Given the description of an element on the screen output the (x, y) to click on. 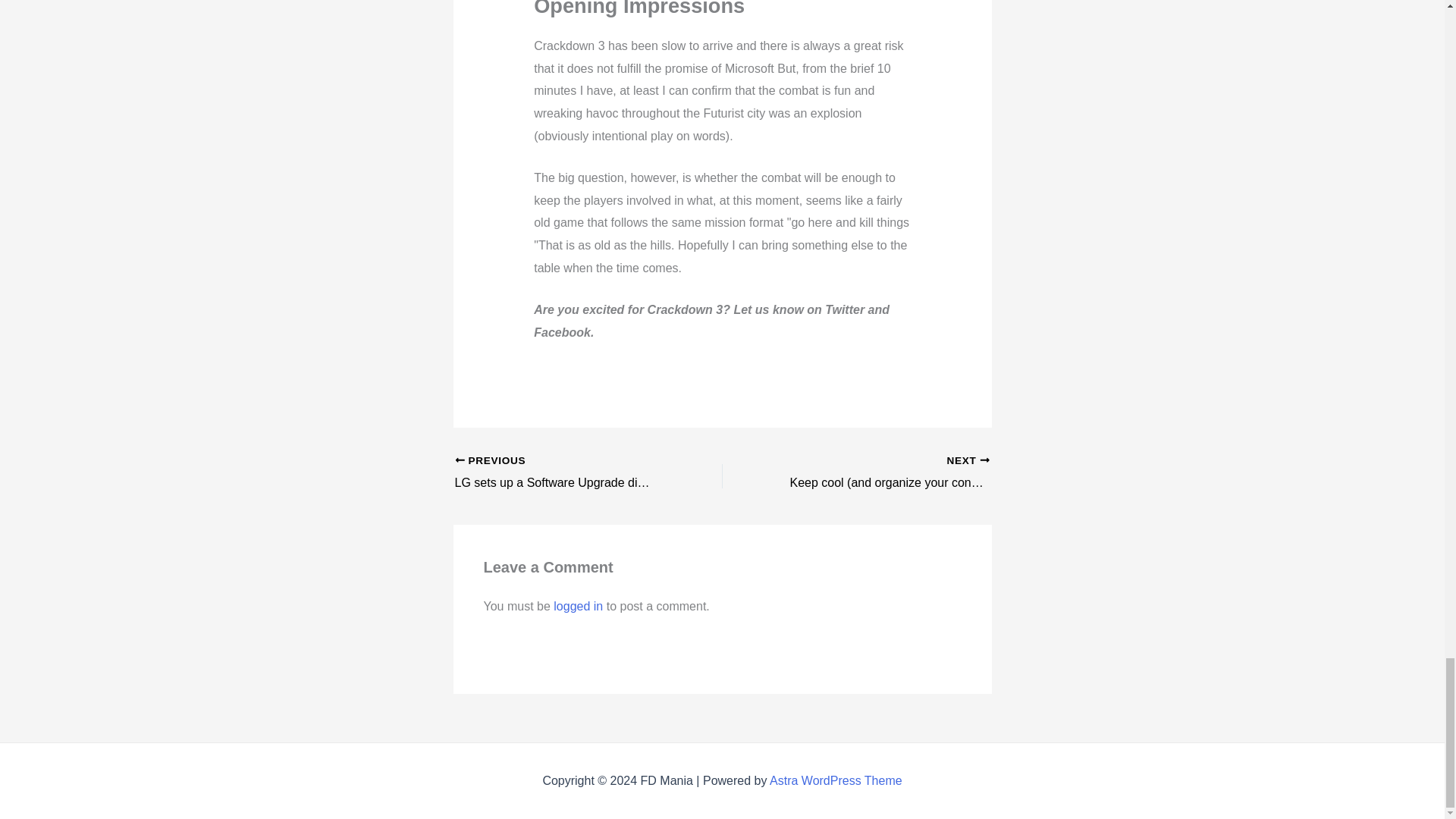
Astra WordPress Theme (836, 780)
logged in (577, 605)
